Given the description of an element on the screen output the (x, y) to click on. 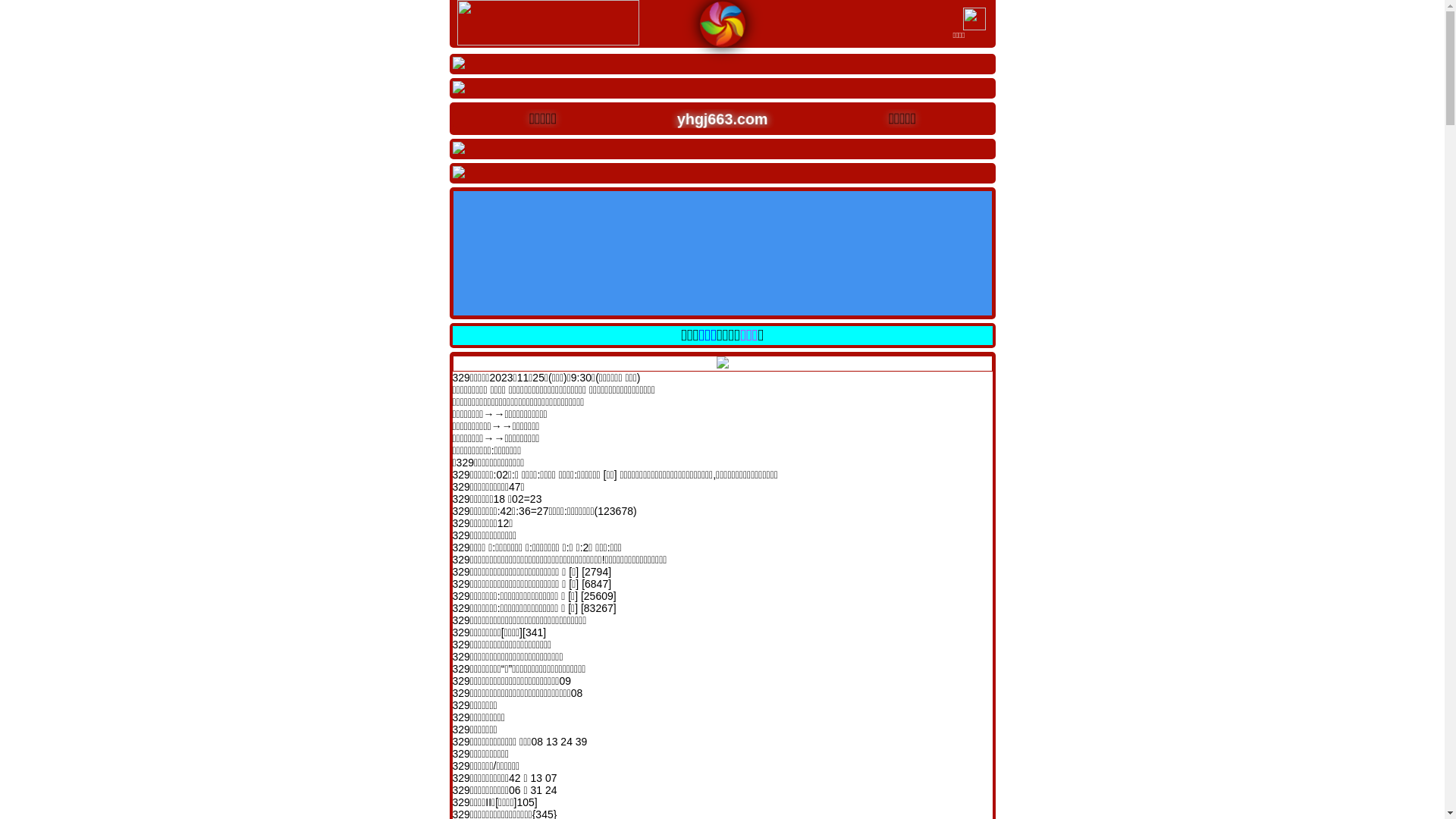
yhgj663.com Element type: text (710, 116)
